Given the description of an element on the screen output the (x, y) to click on. 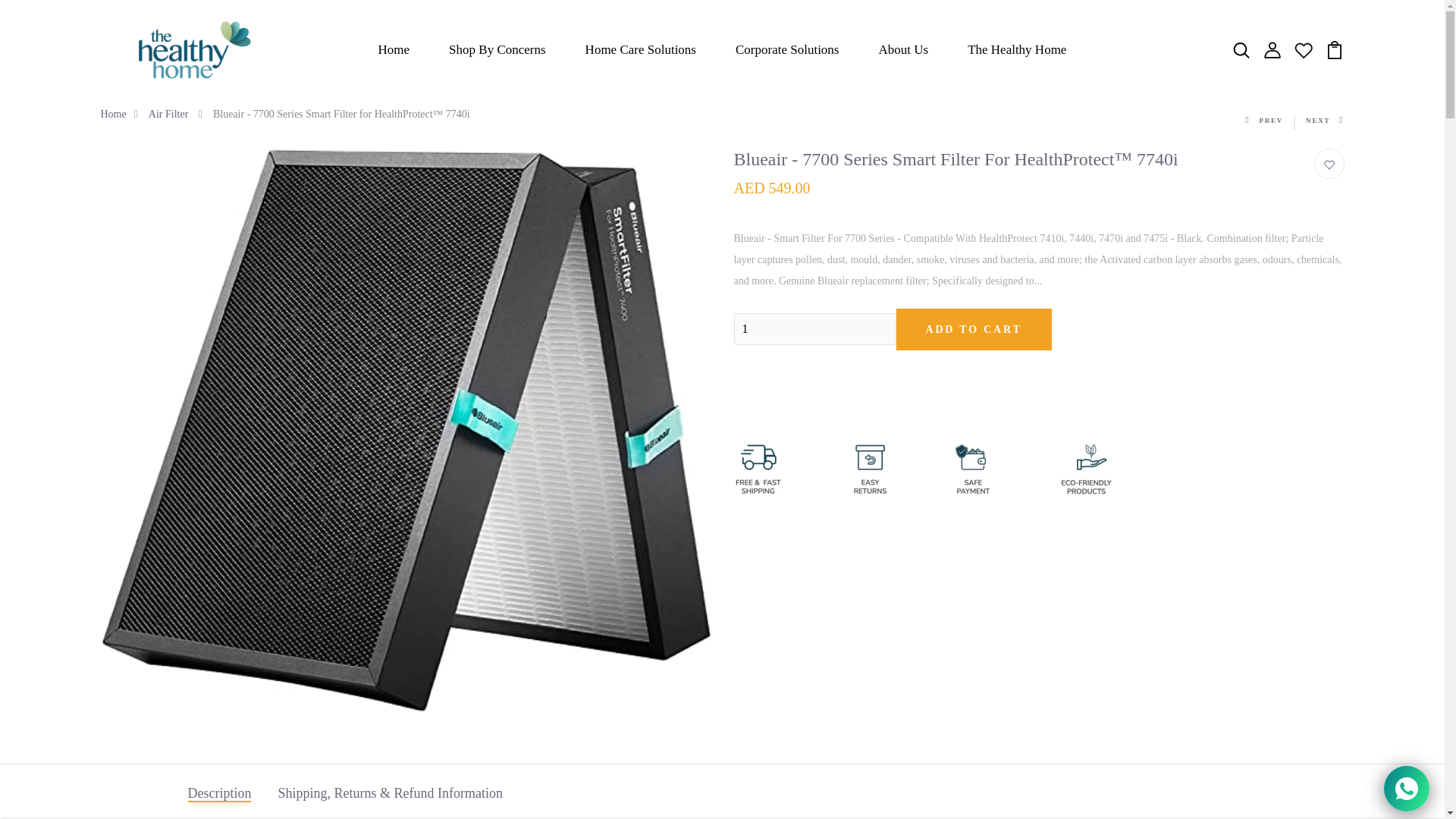
Shop By Concerns (496, 50)
Home (394, 50)
Home (394, 50)
Home Care Solutions (640, 50)
1 (814, 328)
Home Care Solutions (640, 50)
Shop By Concerns (496, 50)
